Given the description of an element on the screen output the (x, y) to click on. 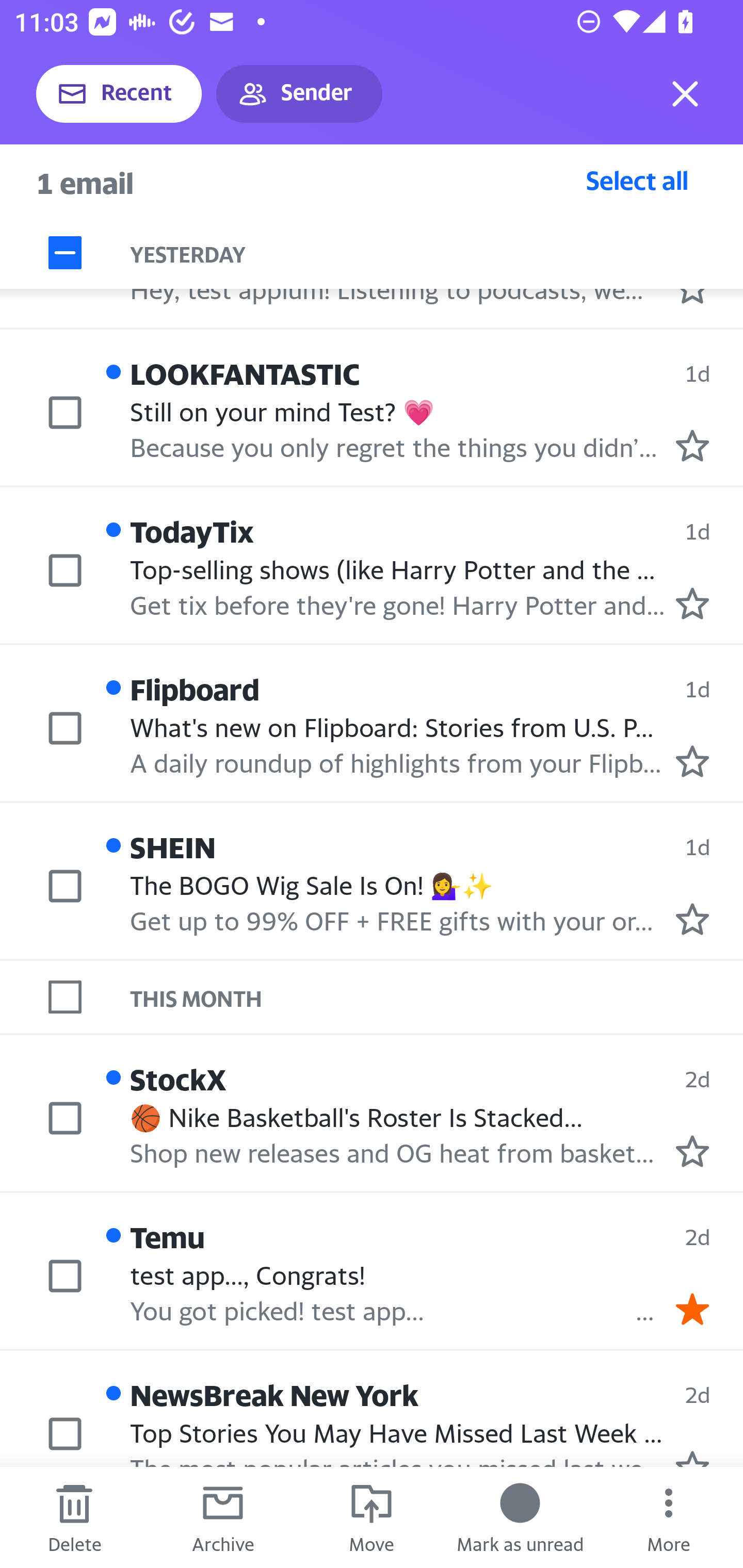
Sender (299, 93)
Exit selection mode (684, 93)
Select all (637, 180)
Mark as starred. (692, 446)
Mark as starred. (692, 602)
Mark as starred. (692, 761)
Mark as starred. (692, 919)
THIS MONTH (436, 996)
Mark as starred. (692, 1151)
Remove star. (692, 1308)
Delete (74, 1517)
Archive (222, 1517)
Move (371, 1517)
Mark as unread (519, 1517)
More (668, 1517)
